Given the description of an element on the screen output the (x, y) to click on. 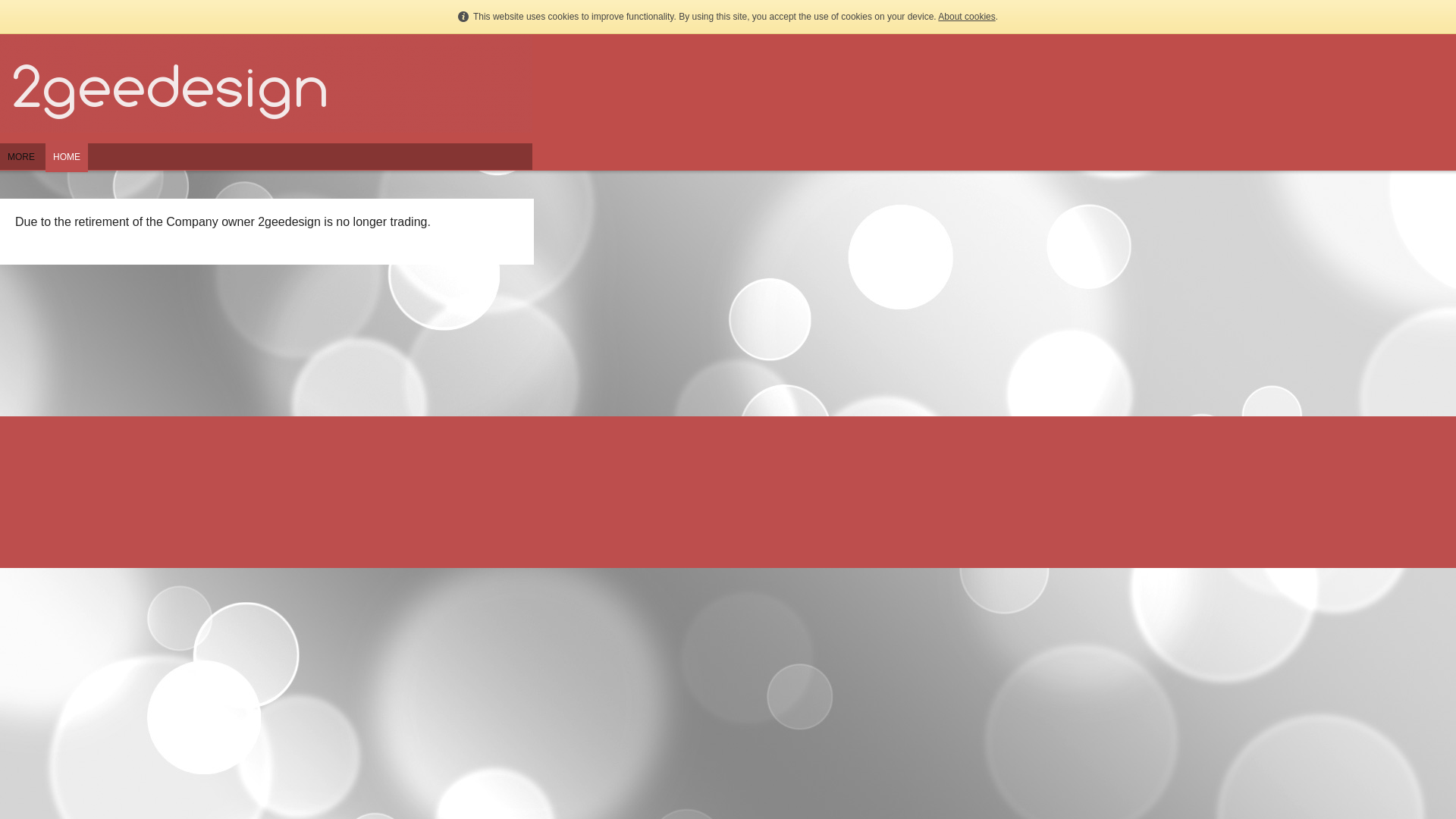
MORE Element type: text (21, 163)
About cookies Element type: text (966, 16)
HOME Element type: text (66, 163)
